Given the description of an element on the screen output the (x, y) to click on. 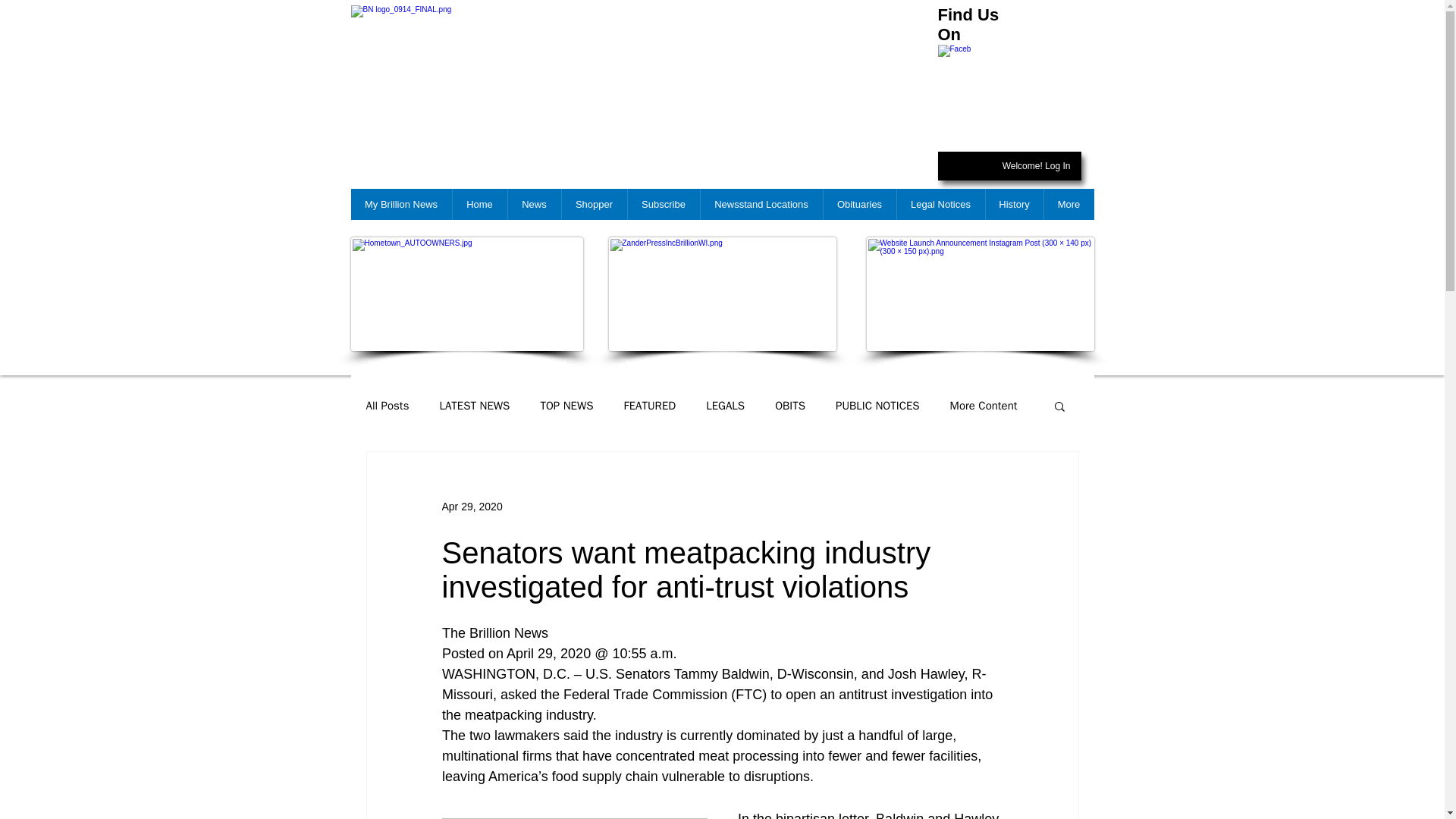
Home (478, 204)
My Brillion News (400, 204)
Welcome! Log In (1036, 166)
LEGALS (725, 405)
Subscribe (662, 204)
History (1013, 204)
Legal Notices (940, 204)
News (533, 204)
LATEST NEWS (474, 405)
OBITS (789, 405)
